Given the description of an element on the screen output the (x, y) to click on. 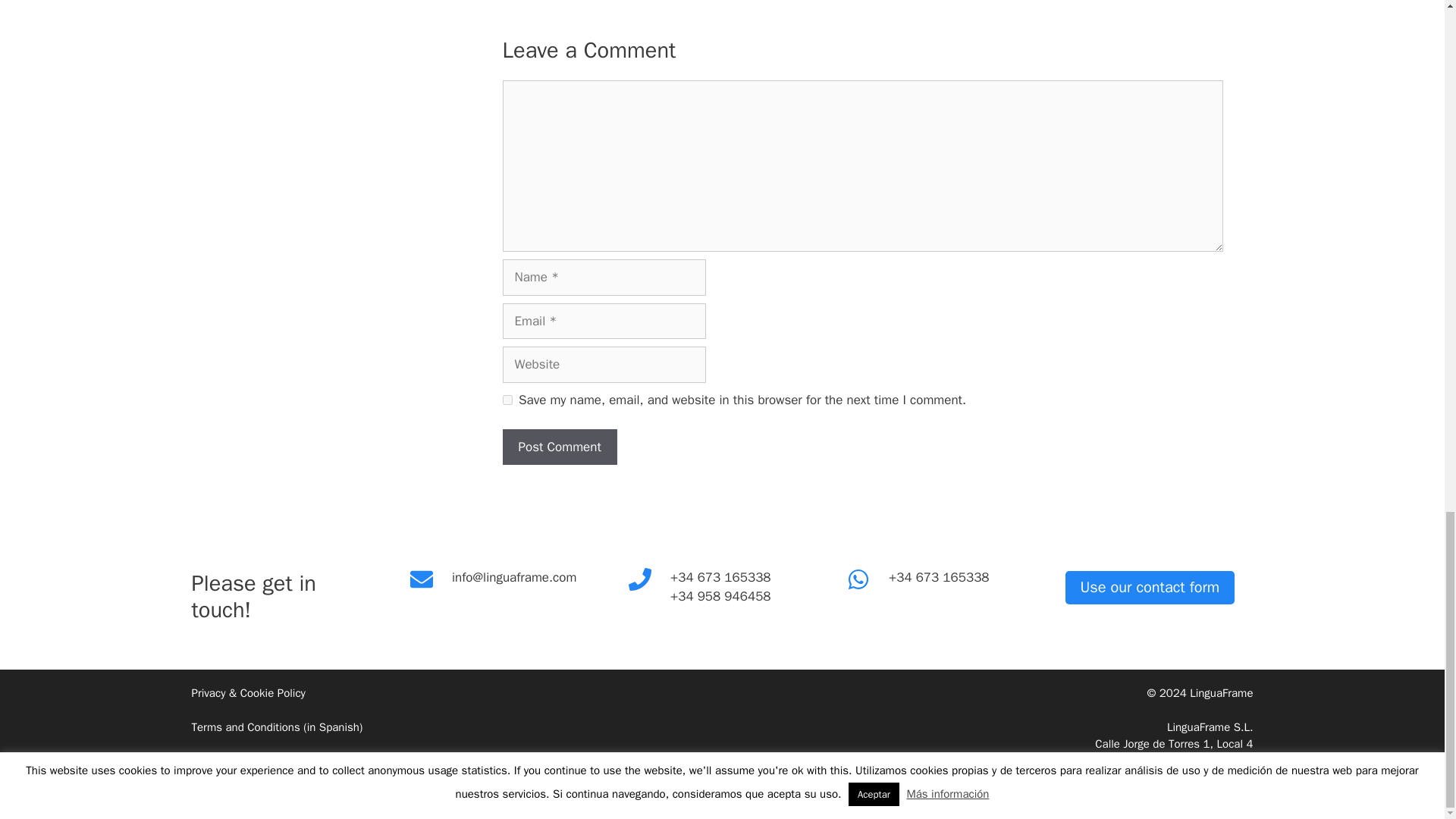
yes (507, 399)
Post Comment (558, 447)
Scroll back to top (1406, 155)
